Given the description of an element on the screen output the (x, y) to click on. 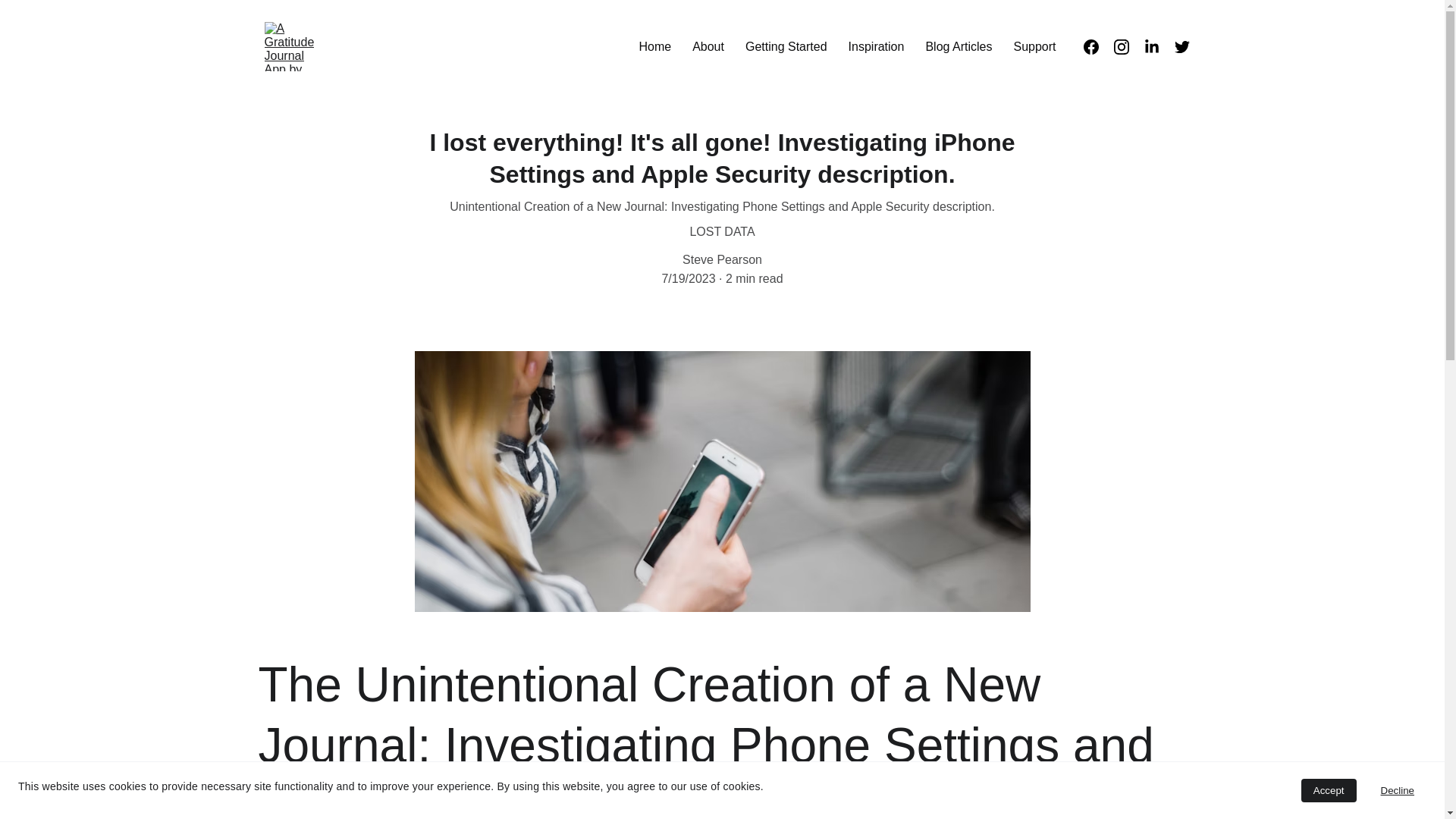
Blog Articles (957, 46)
Getting Started (786, 46)
Home (655, 46)
Inspiration (876, 46)
About (708, 46)
Support (1034, 46)
Accept (1328, 790)
Decline (1397, 790)
